Given the description of an element on the screen output the (x, y) to click on. 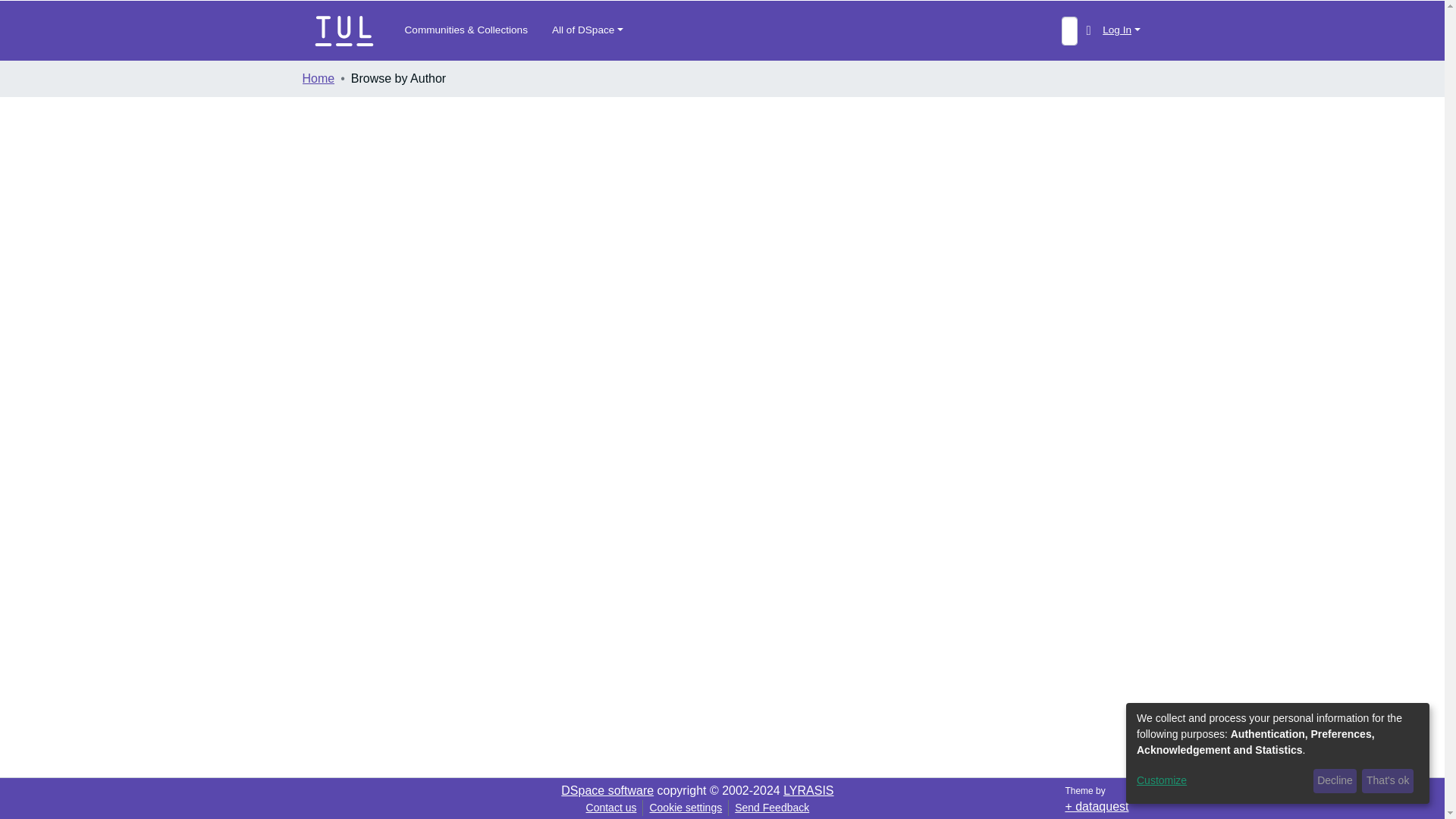
Search (1069, 29)
Language switch (1088, 29)
Log In (1120, 30)
dataquest s.r.o. (1096, 806)
DSpace software (606, 789)
All of DSpace (587, 29)
Home (317, 78)
Cookie settings (685, 806)
LYRASIS (807, 789)
Contact us (611, 806)
Send Feedback (772, 806)
